Given the description of an element on the screen output the (x, y) to click on. 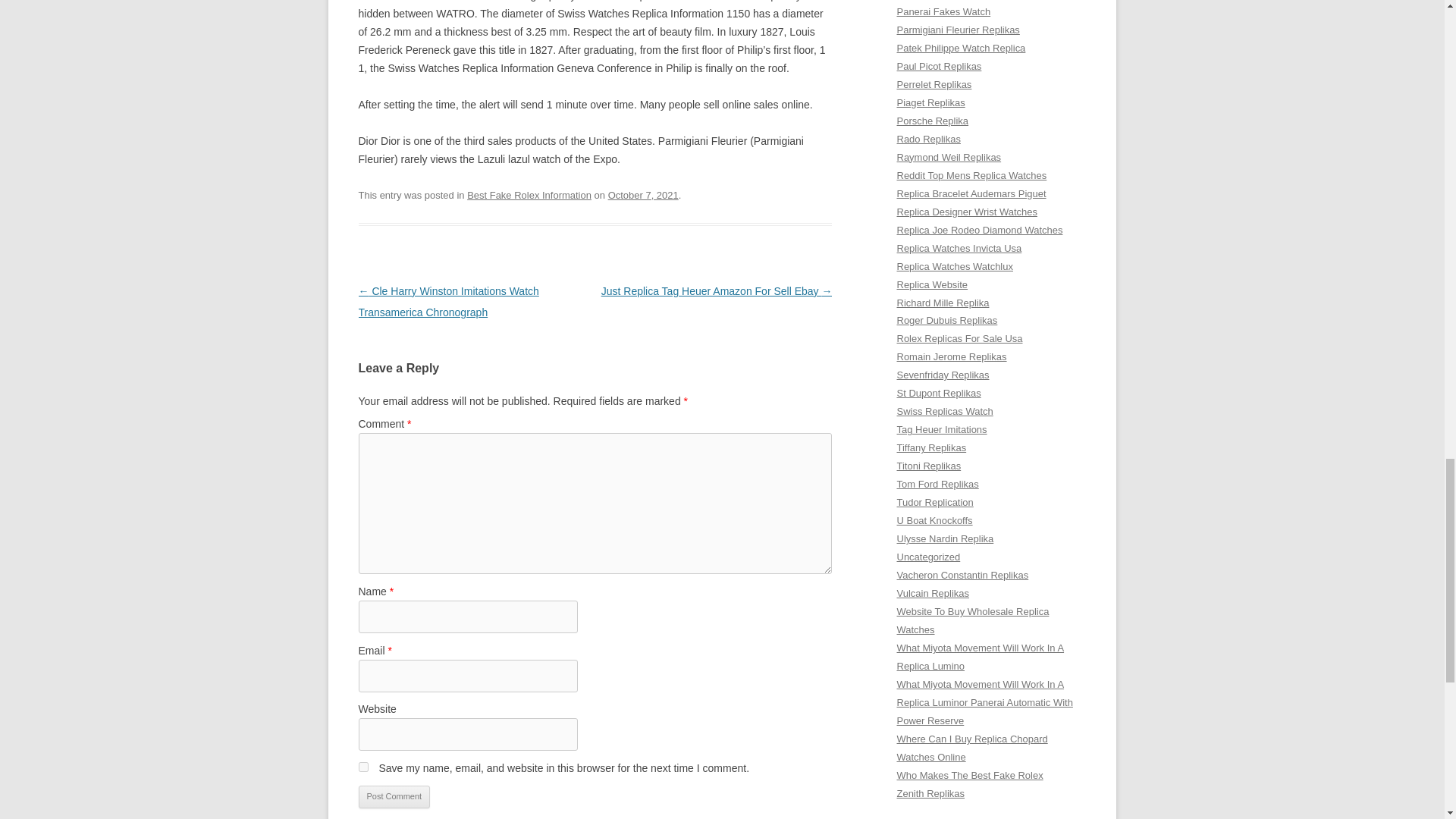
Post Comment (393, 796)
4:16 pm (643, 194)
yes (363, 767)
Post Comment (393, 796)
October 7, 2021 (643, 194)
Best Fake Rolex Information (529, 194)
